Given the description of an element on the screen output the (x, y) to click on. 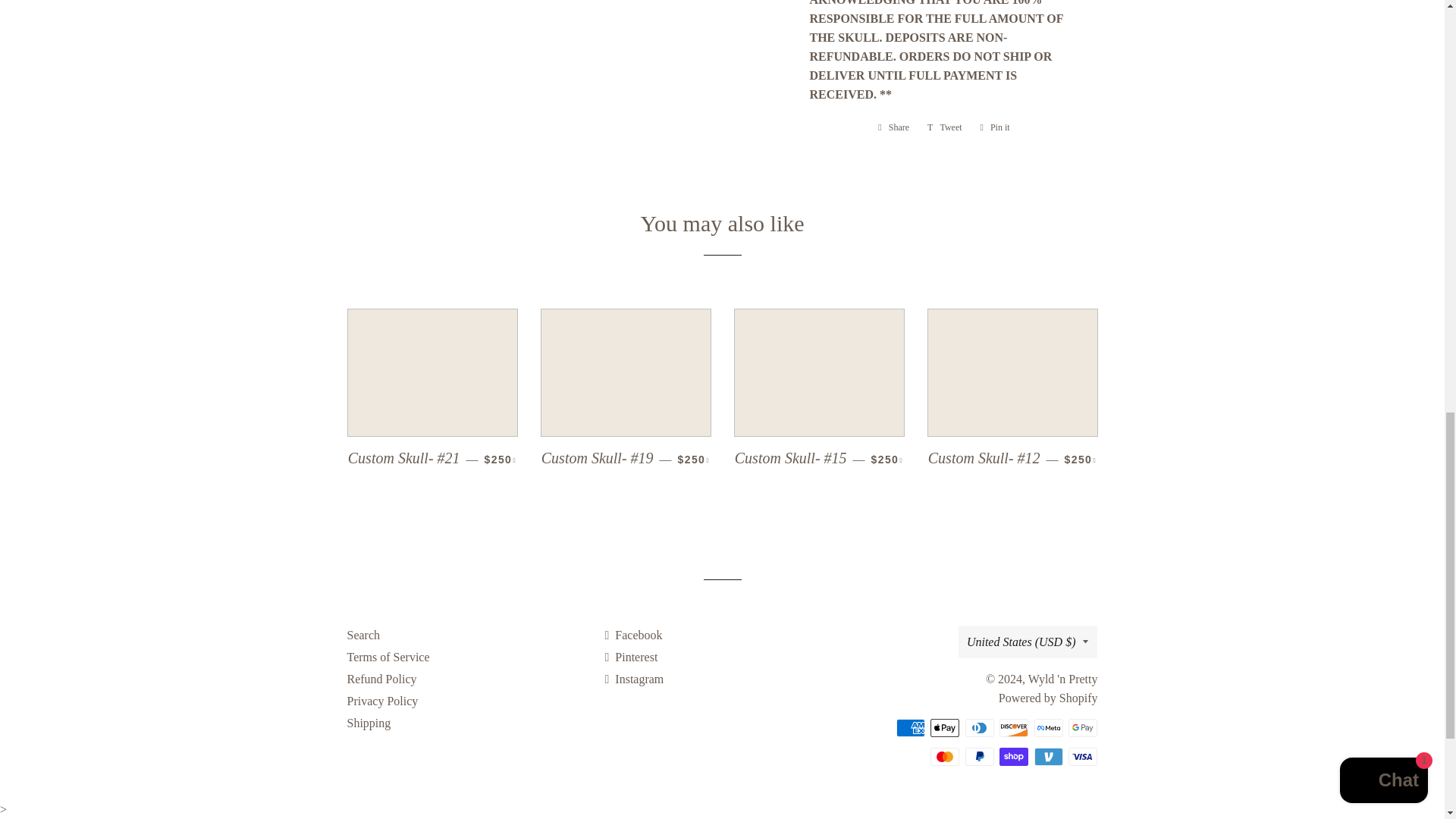
Discover (1012, 728)
Pin on Pinterest (994, 126)
Share on Facebook (893, 126)
Meta Pay (1047, 728)
Wyld 'n Pretty on Facebook (633, 634)
Wyld 'n Pretty on Instagram (633, 678)
PayPal (979, 756)
Tweet on Twitter (944, 126)
American Express (910, 728)
Google Pay (1082, 728)
Diners Club (979, 728)
Venmo (1047, 756)
Wyld 'n Pretty on Pinterest (631, 656)
Mastercard (944, 756)
Shop Pay (1012, 756)
